Given the description of an element on the screen output the (x, y) to click on. 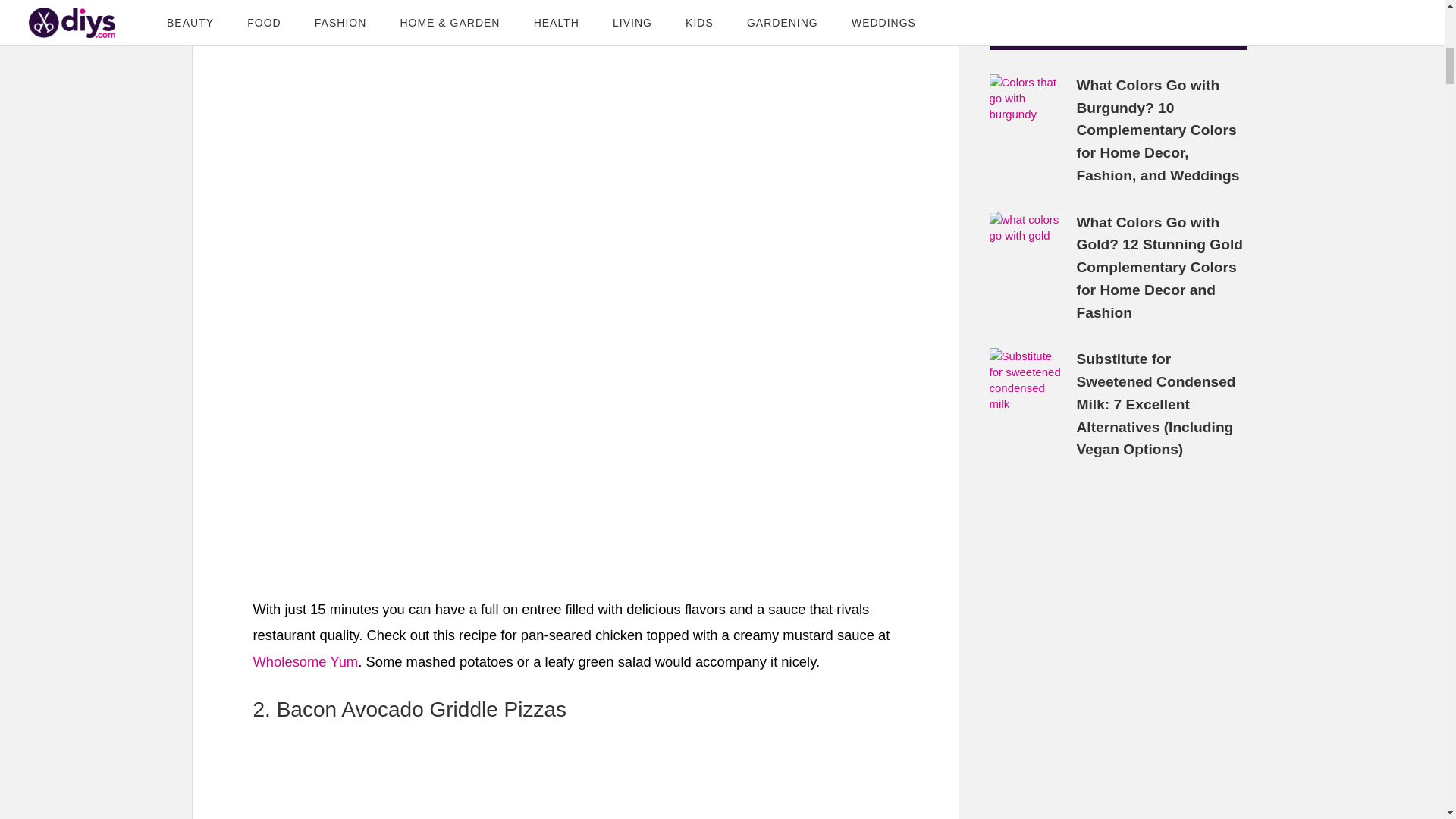
Wholesome Yum (305, 661)
